Given the description of an element on the screen output the (x, y) to click on. 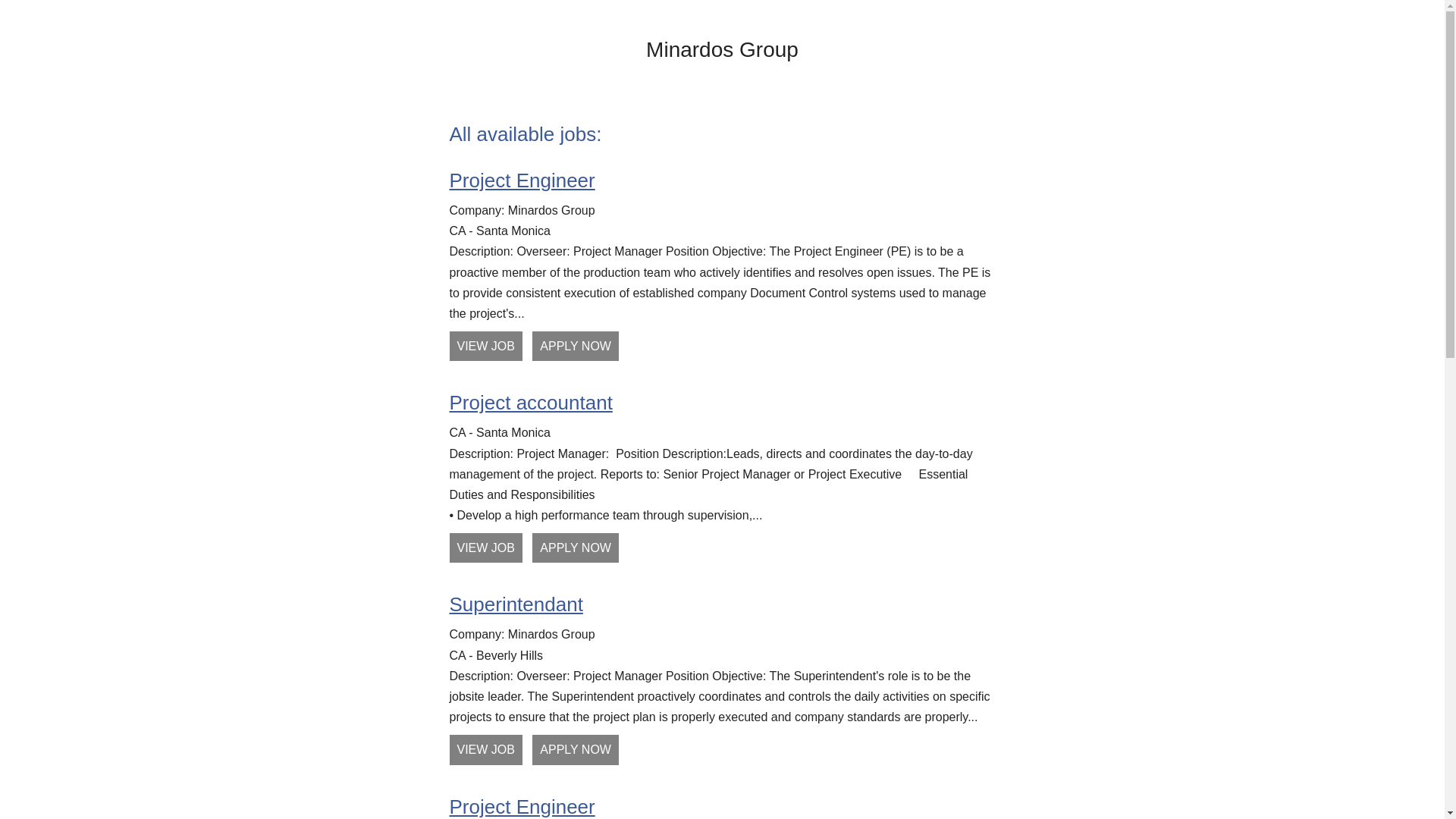
APPLY NOW Element type: text (575, 345)
Project Engineer Element type: text (521, 806)
VIEW JOB Element type: text (484, 345)
Project accountant Element type: text (529, 402)
APPLY NOW Element type: text (575, 547)
Superintendant Element type: text (515, 604)
APPLY NOW Element type: text (575, 749)
VIEW JOB Element type: text (484, 547)
Project Engineer Element type: text (521, 180)
VIEW JOB Element type: text (484, 749)
